Given the description of an element on the screen output the (x, y) to click on. 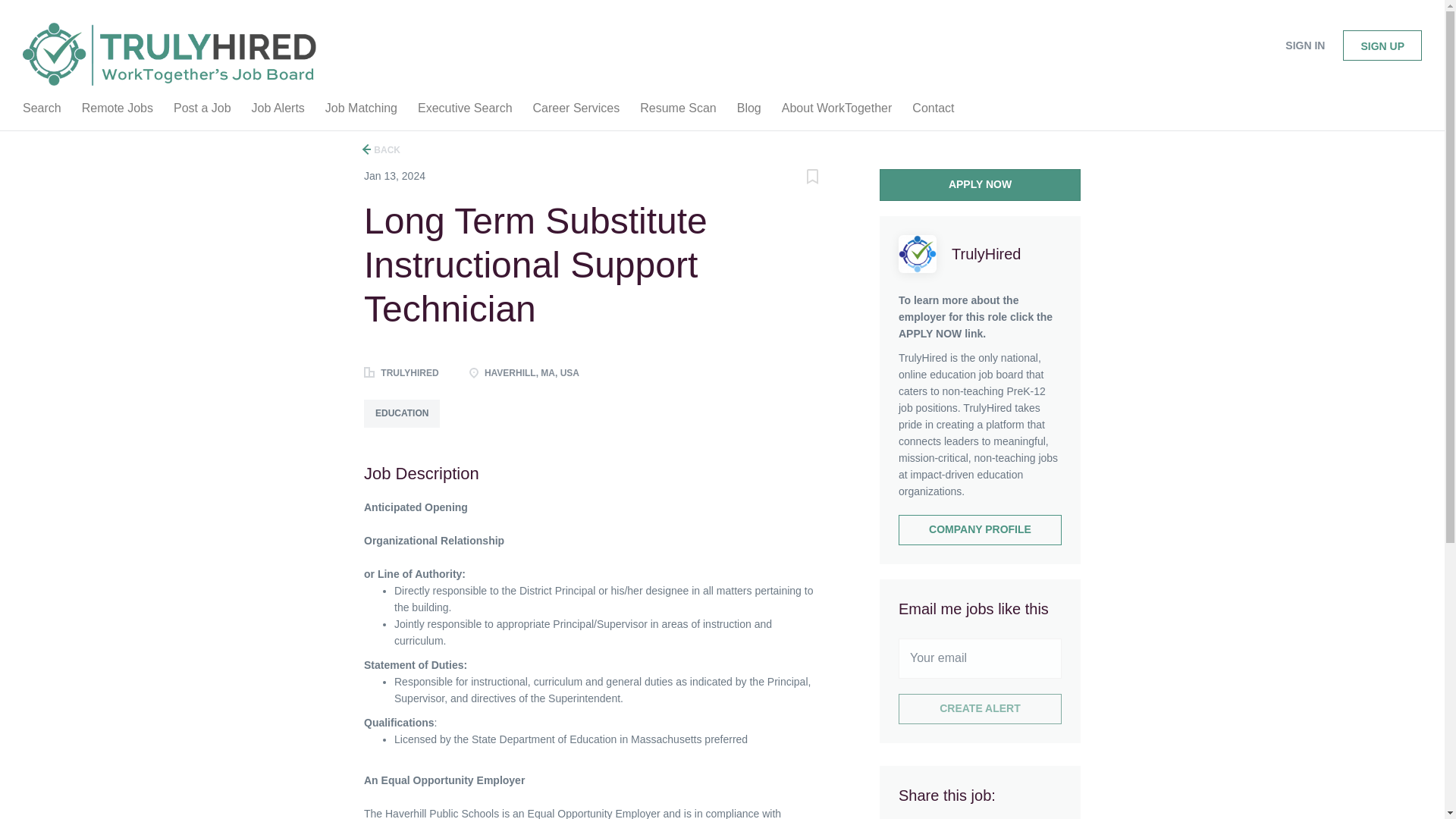
Contact (932, 111)
Resume Scan (677, 111)
BACK (382, 149)
Create alert (979, 708)
Search (41, 111)
Job Matching (360, 111)
Post a Job (201, 111)
Remote Jobs (117, 111)
SIGN IN (1305, 45)
Career Services (576, 111)
Create alert (979, 708)
Blog (748, 111)
Executive Search (464, 111)
APPLY NOW (979, 184)
Job Alerts (278, 111)
